Given the description of an element on the screen output the (x, y) to click on. 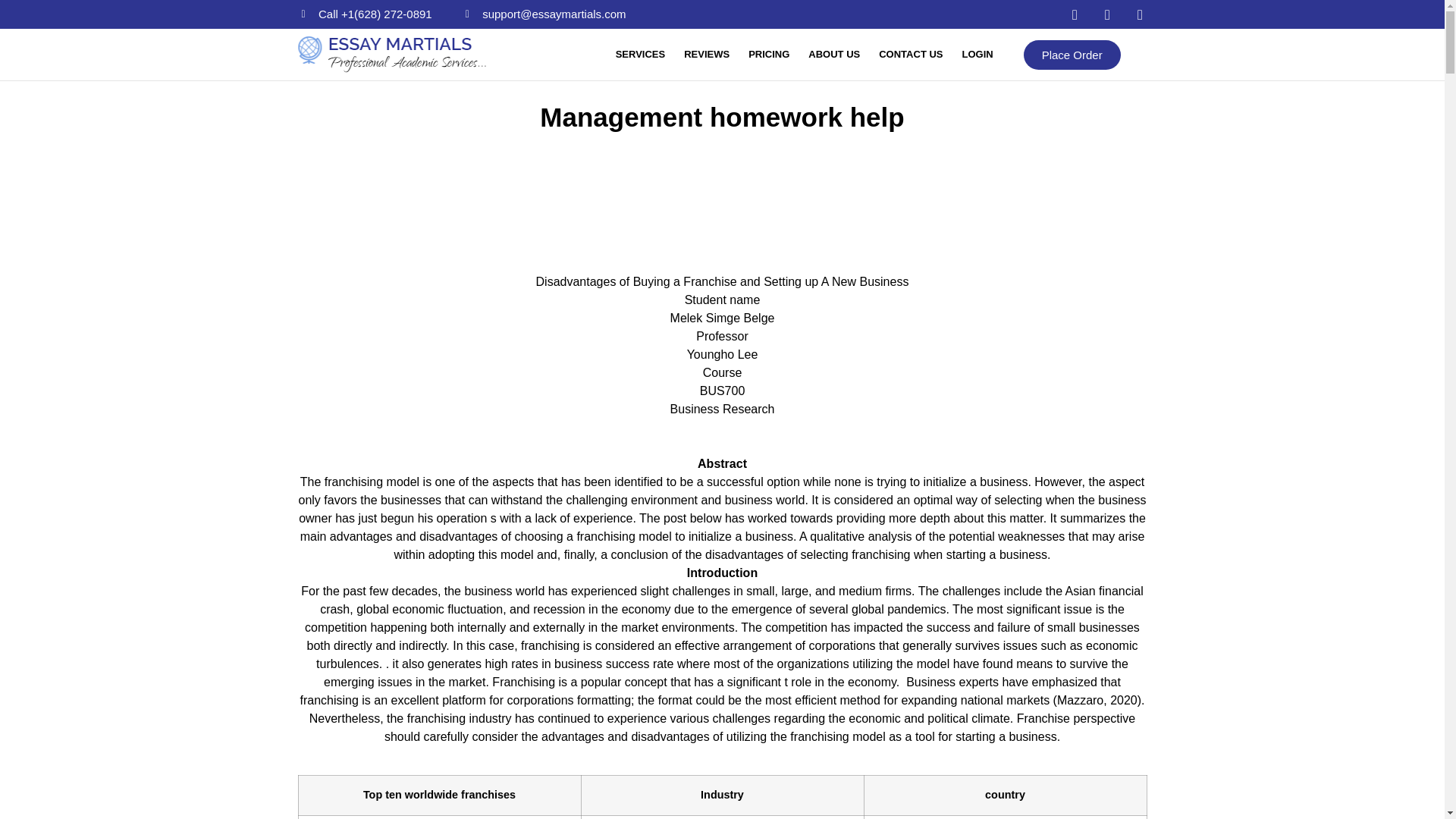
SERVICES (640, 54)
PRICING (769, 54)
Place Order (1072, 53)
LOGIN (976, 54)
REVIEWS (706, 54)
ABOUT US (834, 54)
CONTACT US (910, 54)
